Given the description of an element on the screen output the (x, y) to click on. 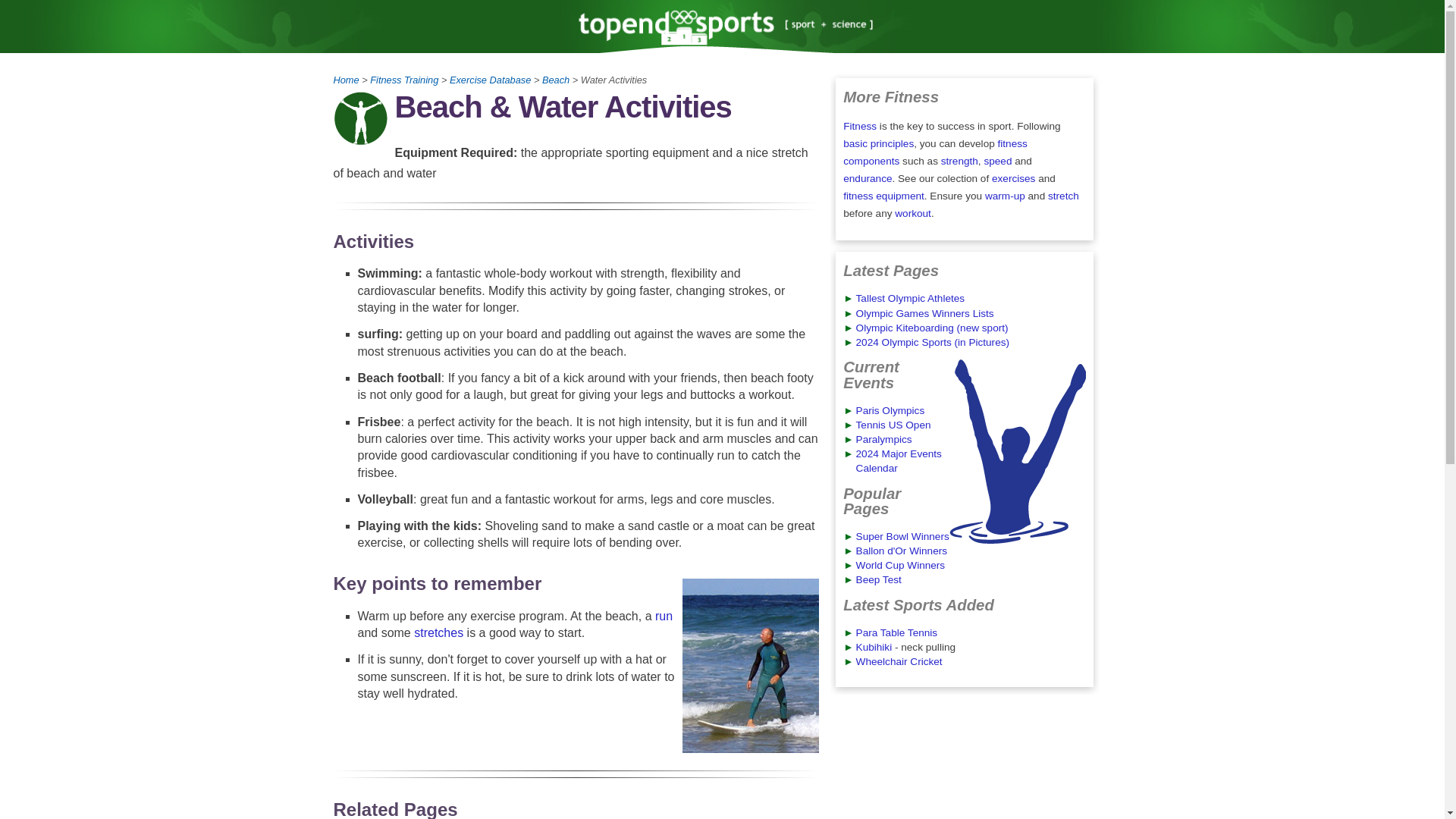
2024 Major Events Calendar (899, 460)
stretches (438, 632)
Tennis US Open (893, 424)
speed (997, 161)
stretch (1063, 195)
Super Bowl Winners (902, 536)
Paris Olympics (890, 410)
fitness equipment (883, 195)
Exercise Database (490, 79)
Fitness (859, 125)
warm-up (1005, 195)
basic principles (878, 143)
workout (913, 213)
World Cup Winners (900, 564)
Fitness Training (403, 79)
